Given the description of an element on the screen output the (x, y) to click on. 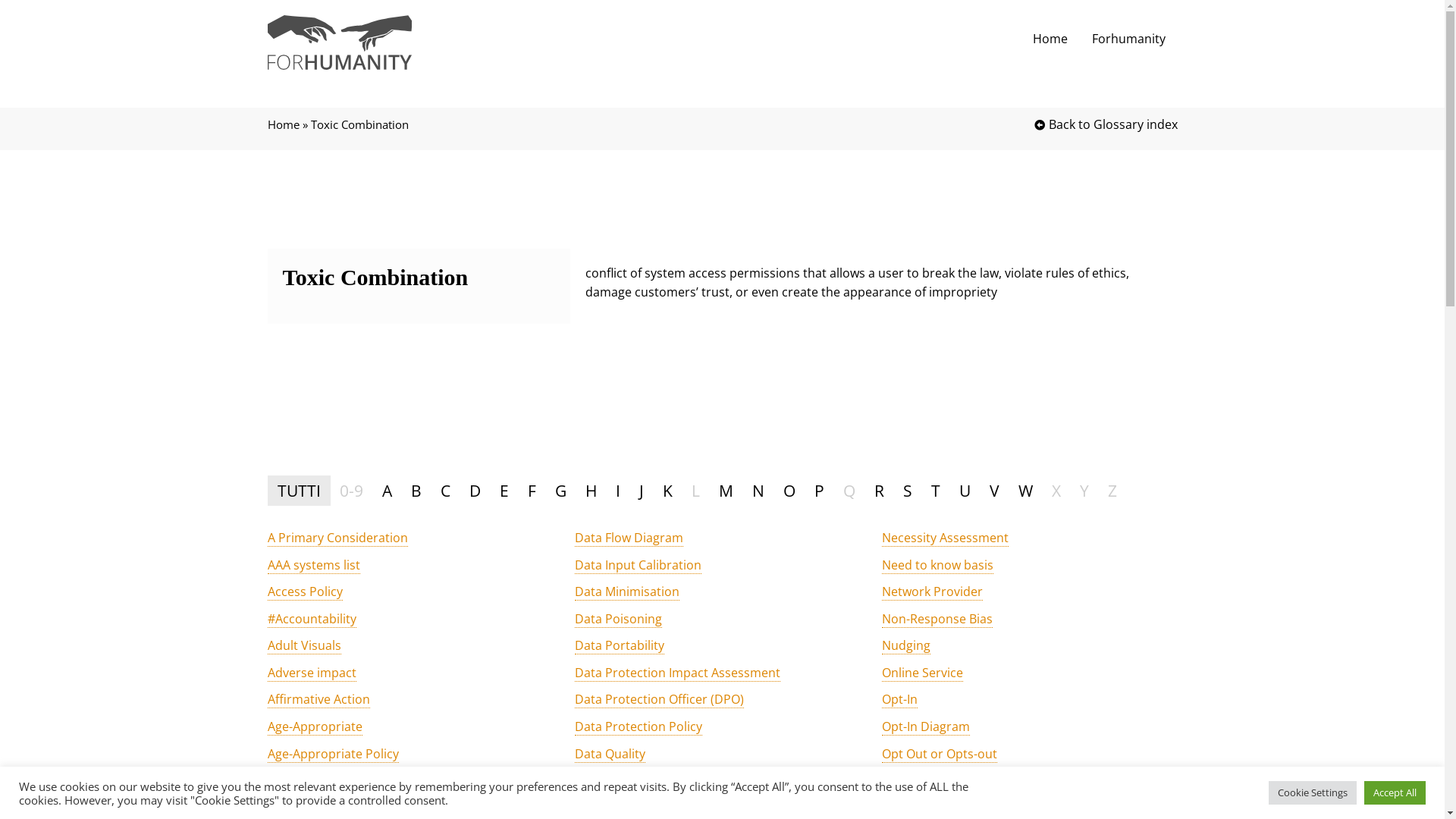
Data Minimisation Element type: text (626, 591)
0-9 Element type: text (350, 490)
Data Protection Impact Assessment Element type: text (677, 672)
Opt-In Diagram Element type: text (925, 726)
M Element type: text (725, 490)
Opt Out or Opts-out Element type: text (939, 753)
S Element type: text (907, 490)
Algorithm List Element type: text (306, 780)
Age-Appropriate Element type: text (313, 726)
C Element type: text (445, 490)
E Element type: text (503, 490)
Need to know basis Element type: text (937, 565)
A Element type: text (386, 490)
Opt-In Element type: text (899, 699)
B Element type: text (415, 490)
V Element type: text (994, 490)
Data Protection Policy Element type: text (638, 726)
Nudging Element type: text (905, 645)
Non-Response Bias Element type: text (936, 618)
Online Service Element type: text (922, 672)
U Element type: text (964, 490)
Data Flow Diagram Element type: text (628, 537)
Y Element type: text (1083, 490)
Data Input Calibration Element type: text (637, 565)
K Element type: text (666, 490)
Age-Appropriate Policy Element type: text (332, 753)
Algorithmic Risk Analysis Element type: text (336, 807)
Z Element type: text (1112, 490)
H Element type: text (589, 490)
Access Policy Element type: text (304, 591)
G Element type: text (559, 490)
#Parent Element type: text (904, 780)
Data Quality Element type: text (609, 753)
Forhumanity Element type: text (1128, 38)
O Element type: text (789, 490)
Network Provider Element type: text (931, 591)
Data Security Policy Element type: text (630, 780)
Adult Visuals Element type: text (303, 645)
P Element type: text (818, 490)
F Element type: text (531, 490)
T Element type: text (934, 490)
Data Protection Officer (DPO) Element type: text (658, 699)
Back to Glossary index Element type: text (948, 124)
N Element type: text (757, 490)
I Element type: text (617, 490)
Adverse impact Element type: text (310, 672)
TUTTI Element type: text (297, 490)
Data Portability Element type: text (619, 645)
A Primary Consideration Element type: text (336, 537)
Accept All Element type: text (1394, 792)
AAA systems list Element type: text (312, 565)
Parental Controls Element type: text (931, 807)
J Element type: text (641, 490)
D Element type: text (474, 490)
Necessity Assessment Element type: text (944, 537)
Cookie Settings Element type: text (1312, 792)
W Element type: text (1025, 490)
R Element type: text (879, 490)
X Element type: text (1055, 490)
Affirmative Action Element type: text (317, 699)
Home Element type: text (282, 123)
Q Element type: text (848, 490)
Home Element type: text (1049, 38)
L Element type: text (694, 490)
Data Poisoning Element type: text (618, 618)
Data Subject Element type: text (610, 807)
#Accountability Element type: text (310, 618)
